Given the description of an element on the screen output the (x, y) to click on. 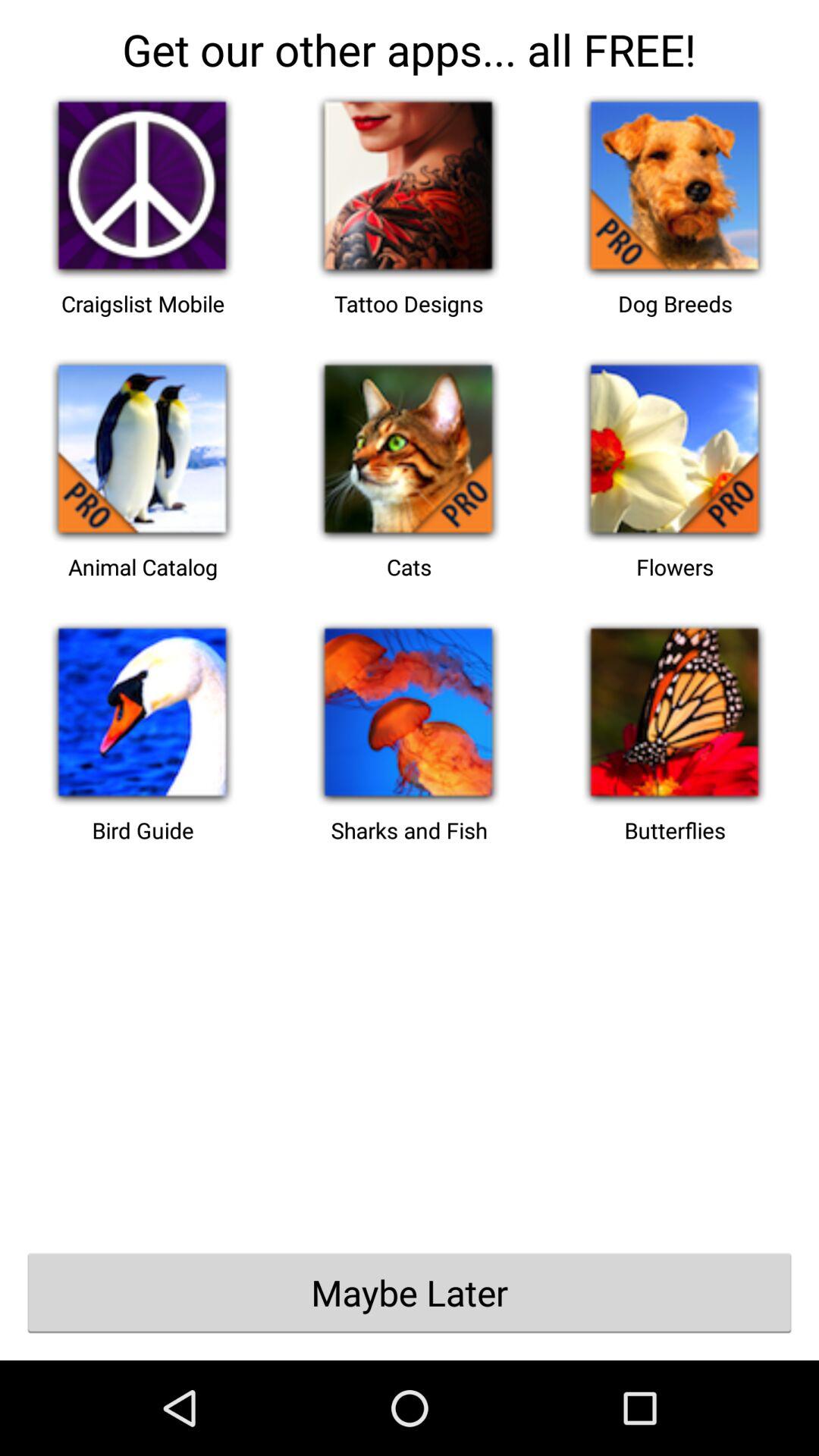
tap the maybe later button (409, 1292)
